Given the description of an element on the screen output the (x, y) to click on. 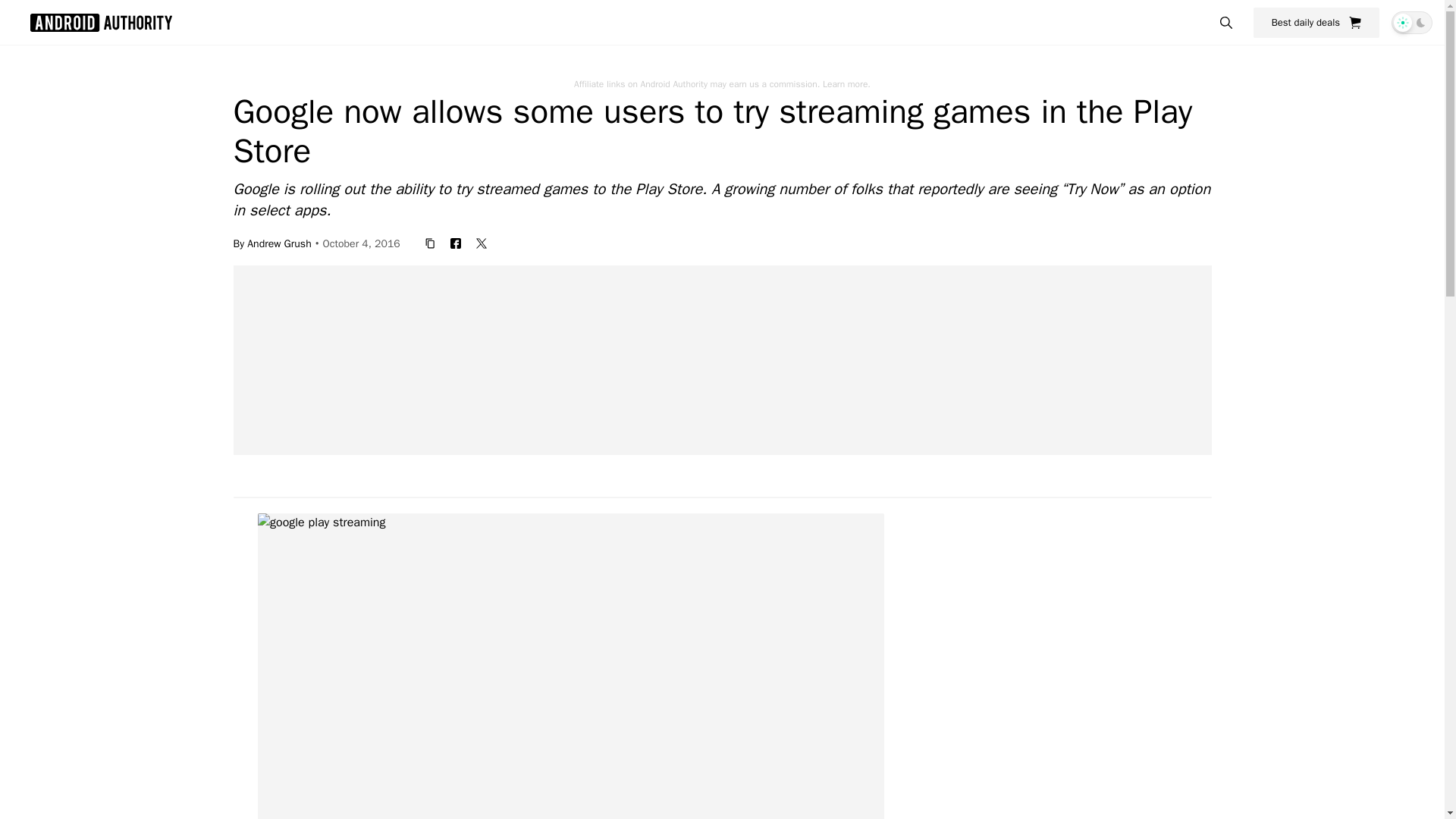
facebook (455, 243)
twitter (481, 243)
Andrew Grush (279, 242)
Learn more. (846, 83)
Best daily deals (1315, 22)
